Given the description of an element on the screen output the (x, y) to click on. 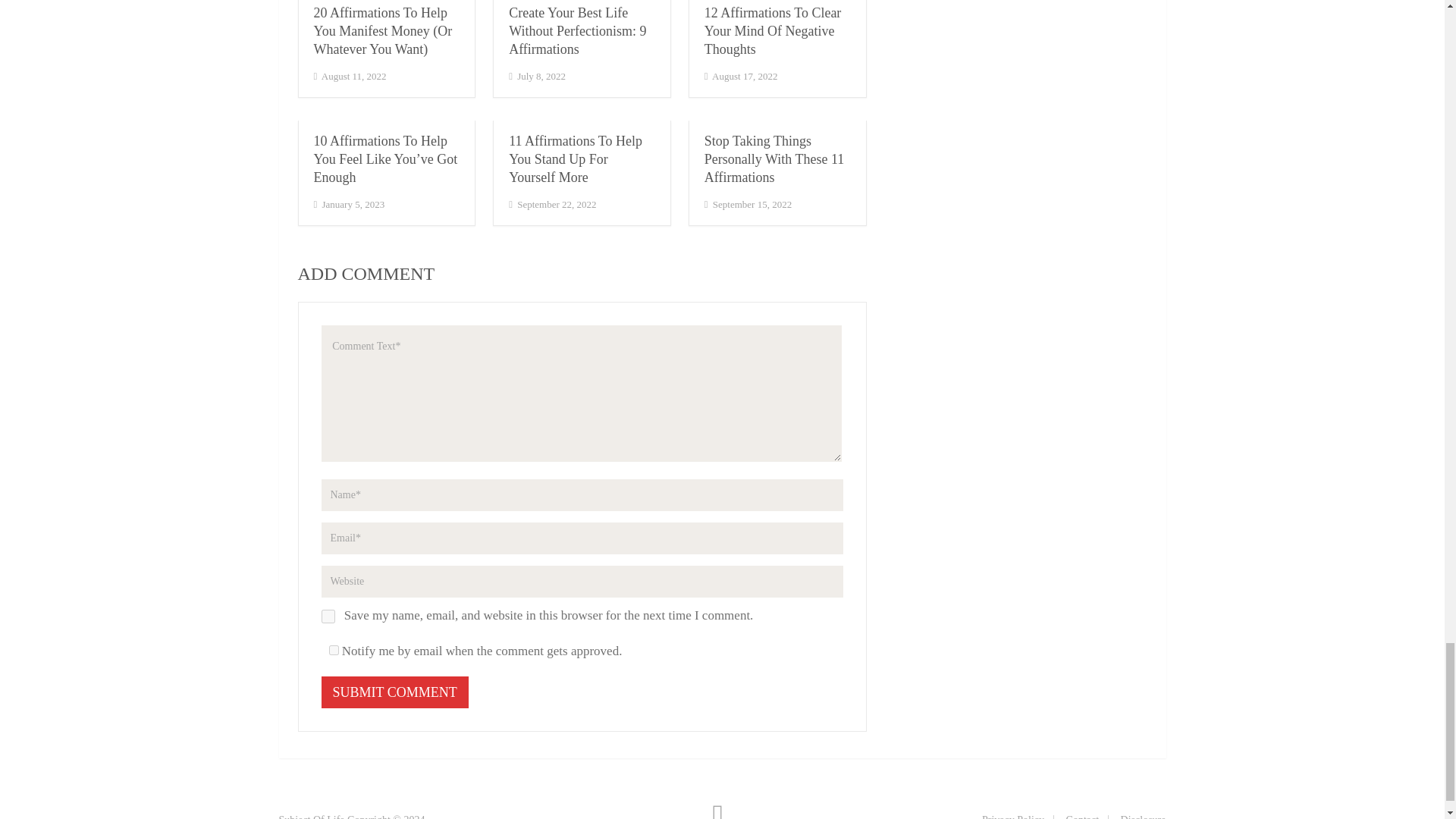
Create Your Best Life Without Perfectionism: 9 Affirmations (577, 30)
11 Affirmations To Help You Stand Up For Yourself More (575, 159)
1 (334, 650)
12 Affirmations To Clear Your Mind Of Negative Thoughts (772, 30)
Privacy Policy (1012, 816)
Create Your Best Life Without Perfectionism: 9 Affirmations (577, 30)
yes (327, 616)
Contact (1082, 816)
Stop Taking Things Personally With These 11 Affirmations (774, 159)
Subject Of Life (312, 816)
